Given the description of an element on the screen output the (x, y) to click on. 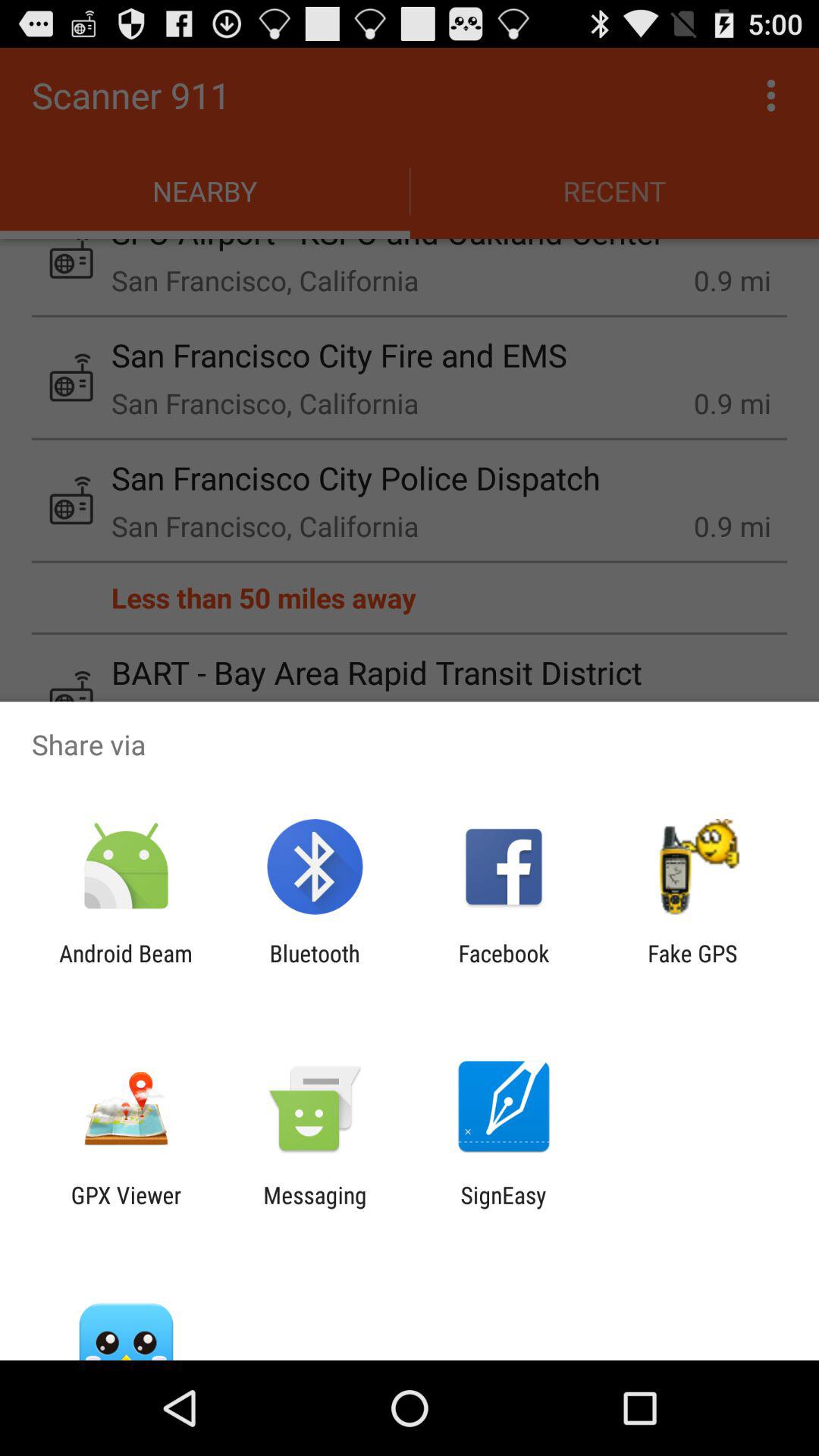
choose the signeasy icon (503, 1208)
